Given the description of an element on the screen output the (x, y) to click on. 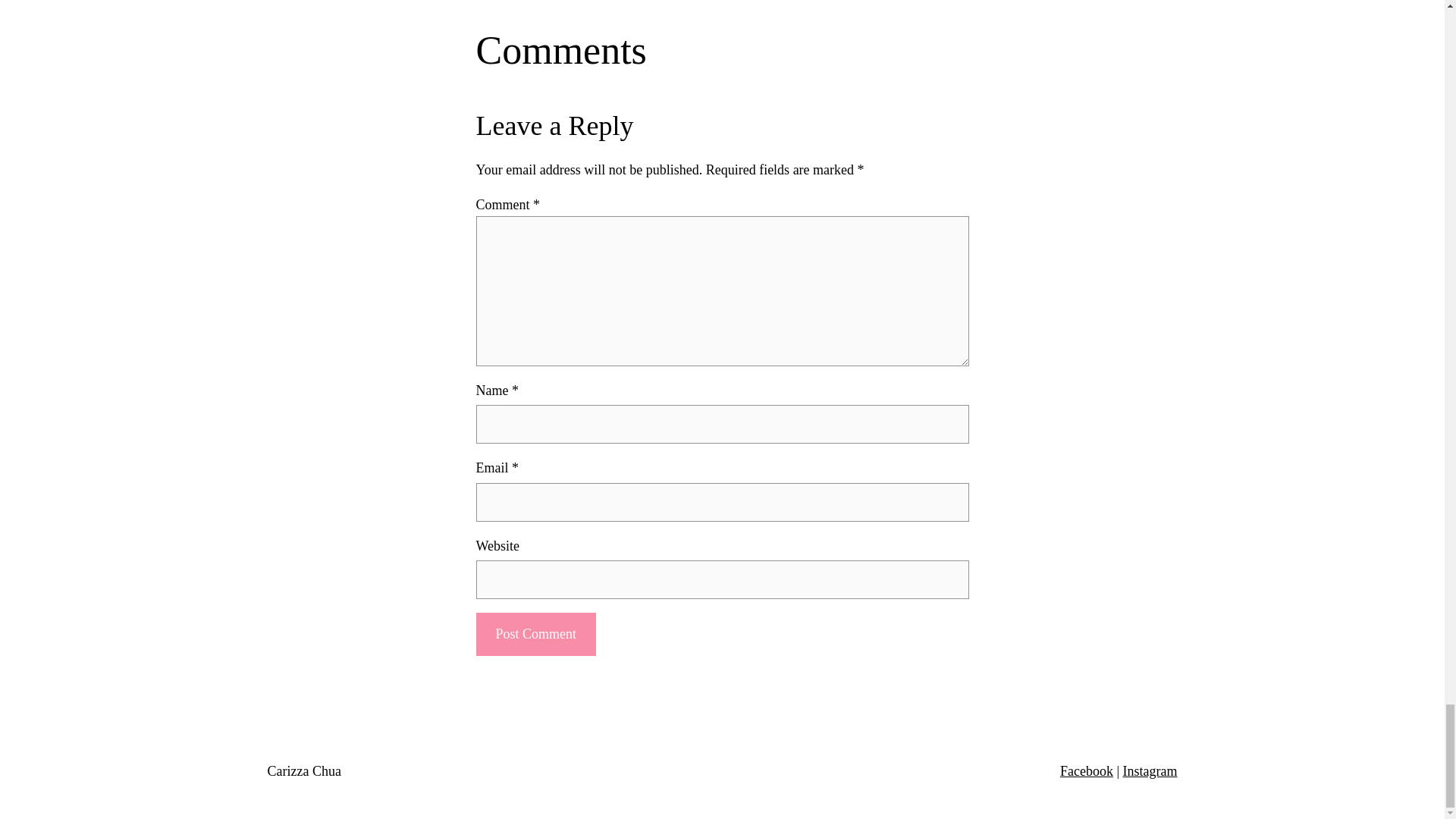
Carizza Chua (303, 770)
Facebook (1086, 770)
Post Comment (535, 634)
Instagram (1149, 770)
Post Comment (535, 634)
